Given the description of an element on the screen output the (x, y) to click on. 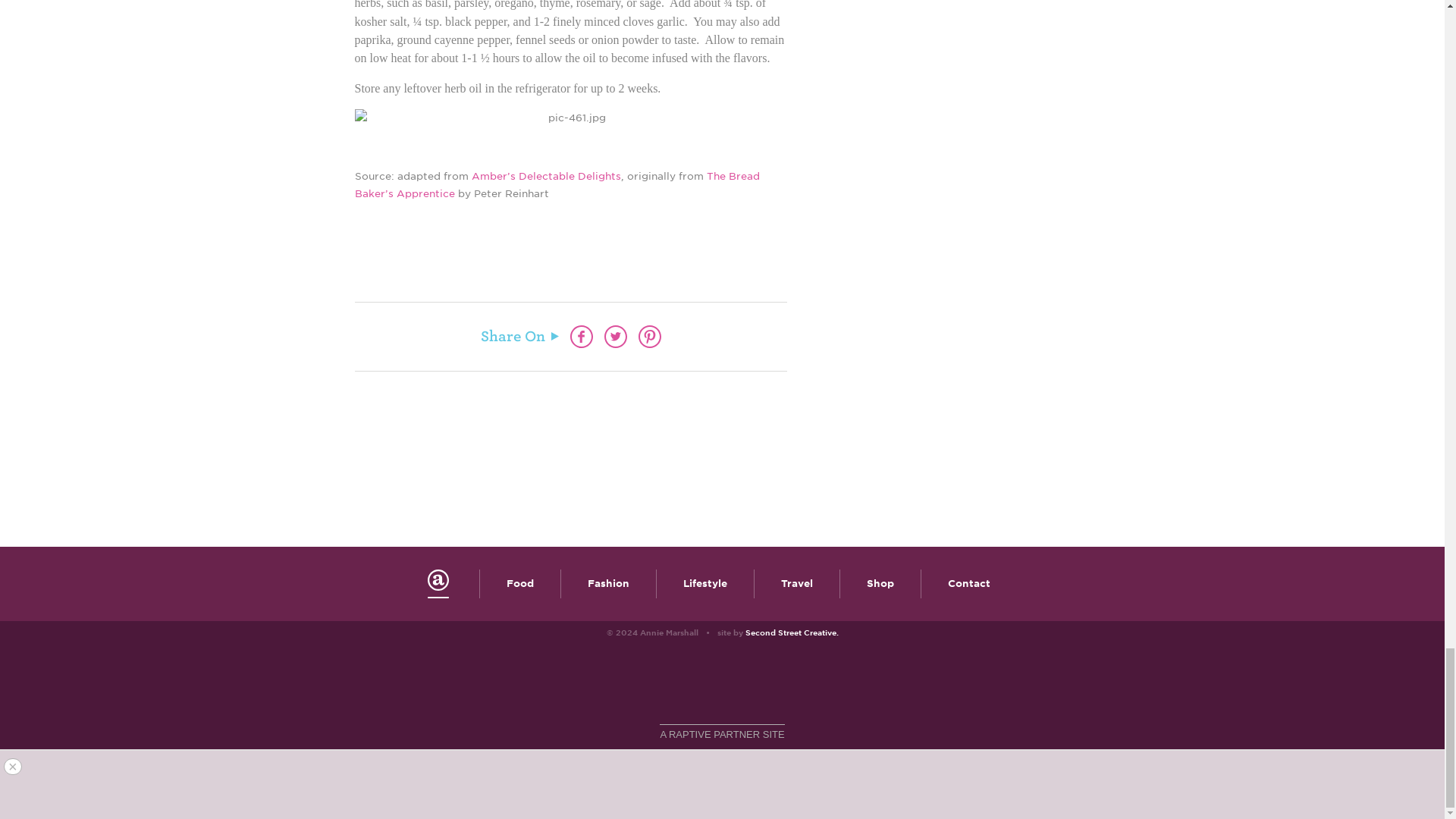
Share on Facebook (581, 336)
Share on Twitter (615, 336)
Share on Pinterest (650, 336)
The Bread Baker's Apprentice (557, 184)
Amber's Delectable Delights (546, 175)
